Given the description of an element on the screen output the (x, y) to click on. 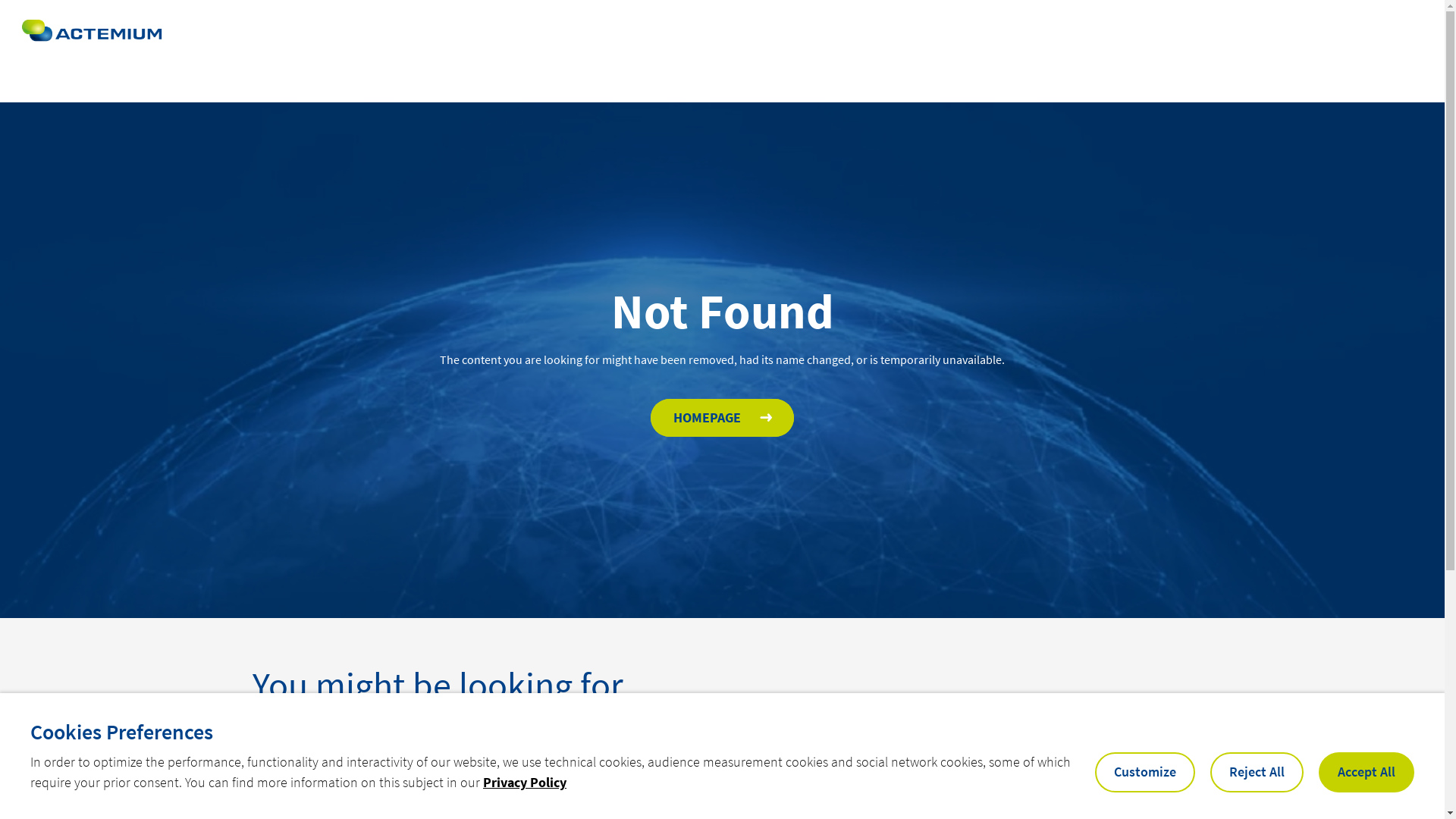
HOMEPAGE Element type: text (721, 417)
Reject All Element type: text (1256, 772)
Customize Element type: text (1145, 772)
Privacy Policy Element type: text (524, 781)
Accept All Element type: text (1366, 772)
